Given the description of an element on the screen output the (x, y) to click on. 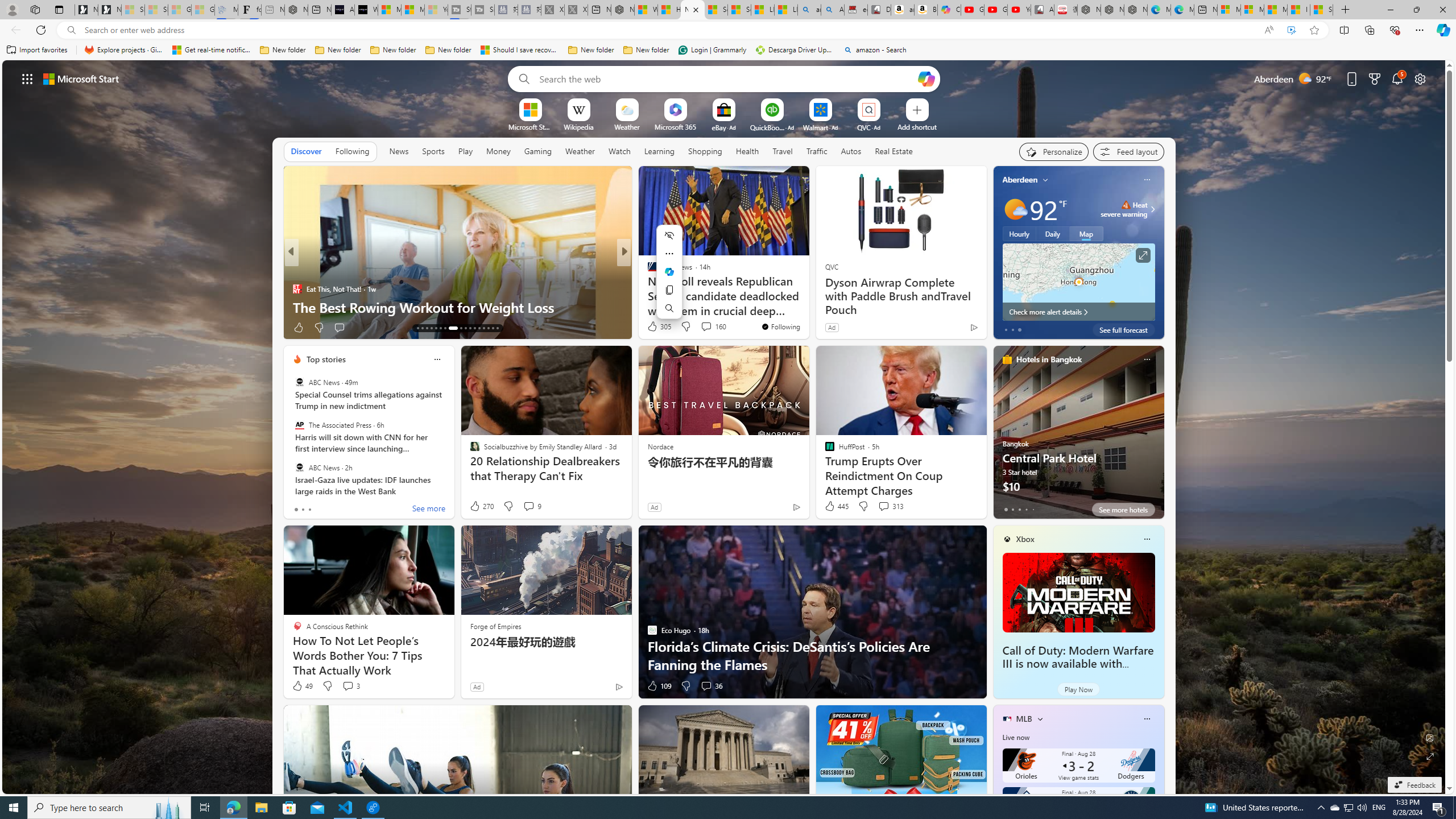
New folder (646, 49)
Open Copilot (926, 78)
Copilot (949, 9)
Discover (306, 151)
Ad Choice (619, 686)
Play (465, 151)
Hide menu (668, 235)
Money (497, 151)
Real Estate (893, 151)
Add this page to favorites (Ctrl+D) (1314, 29)
Gaming (537, 151)
New tab (1205, 9)
View comments 9 Comment (532, 505)
App bar (728, 29)
AutomationID: tab-22 (465, 328)
